Given the description of an element on the screen output the (x, y) to click on. 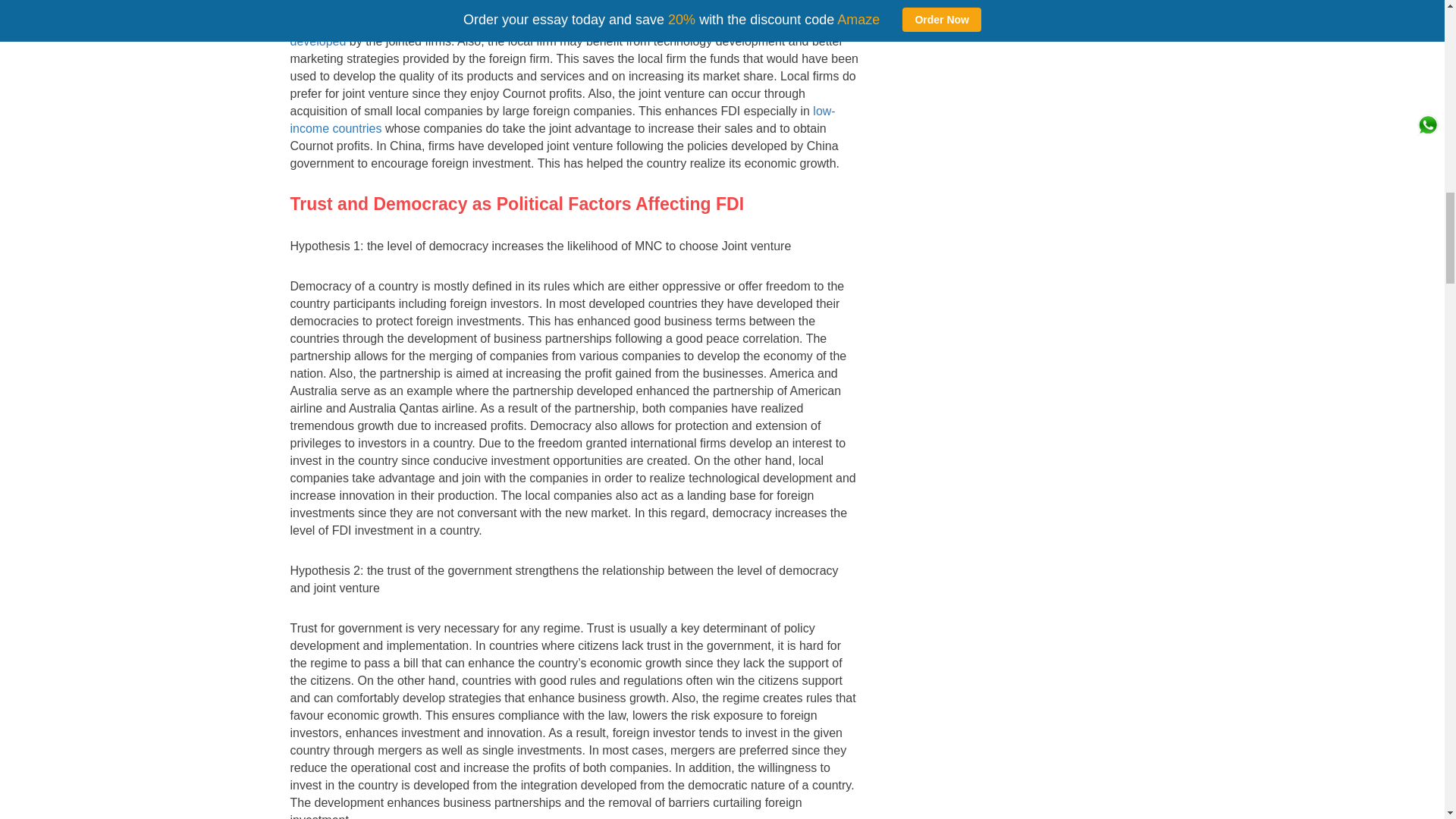
cost-sharing developed (544, 32)
low-income countries (561, 119)
